Given the description of an element on the screen output the (x, y) to click on. 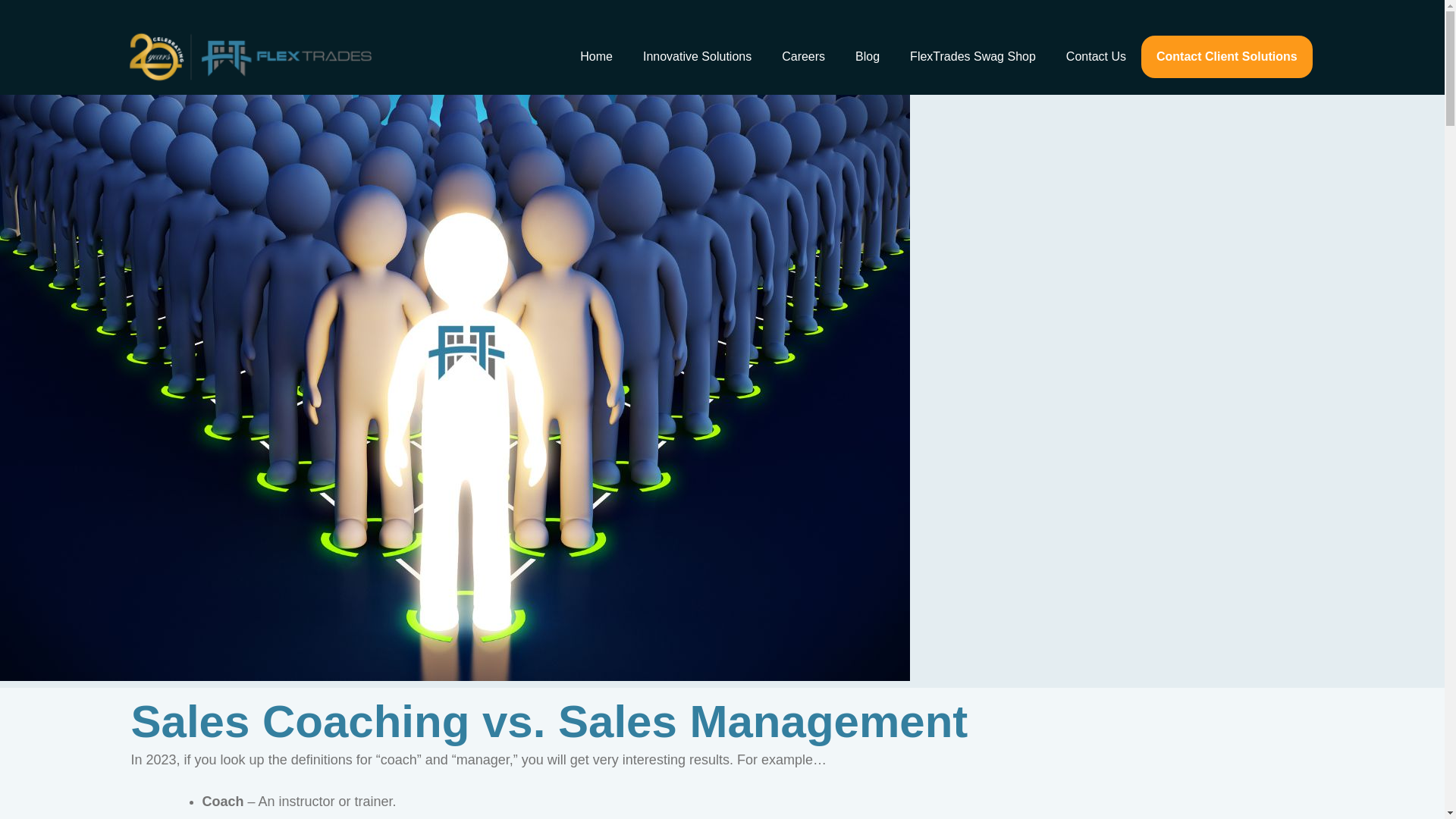
Innovative Solutions (697, 56)
Home (595, 56)
FlexTrades Swag Shop (973, 56)
Contact Client Solutions (1227, 56)
Blog (867, 56)
Careers (803, 56)
Contact Us (1096, 56)
